Given the description of an element on the screen output the (x, y) to click on. 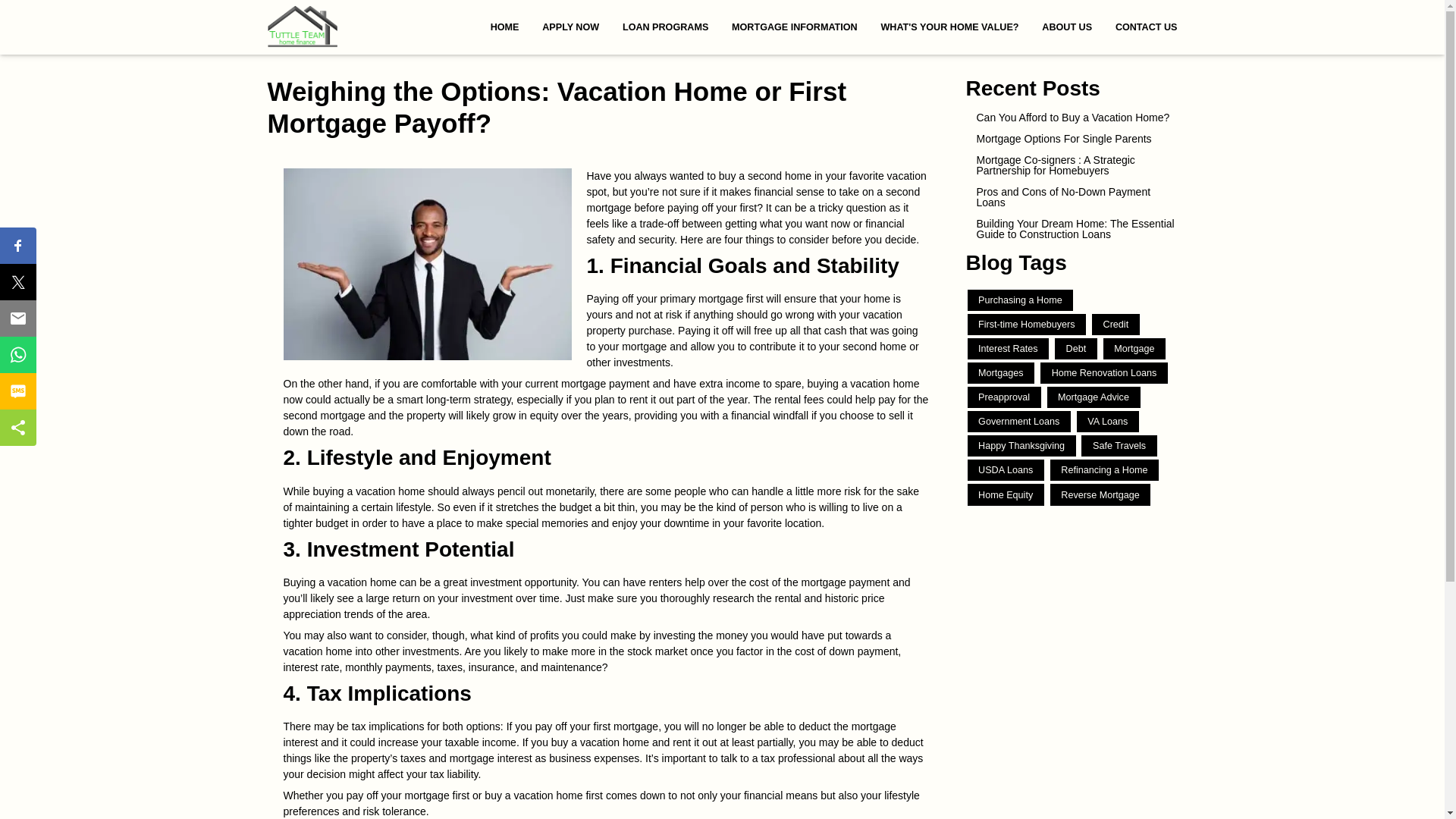
Purchasing a Home (1021, 300)
Mortgage Advice (1093, 396)
WHAT'S YOUR HOME VALUE? (949, 27)
Pros and Cons of No-Down Payment Loans (1071, 197)
Credit (1116, 323)
Home Renovation Loans (1104, 373)
MORTGAGE INFORMATION (794, 27)
APPLY NOW (571, 27)
Mortgage (1134, 348)
HOME (505, 27)
CONTACT US (1139, 27)
VA Loans (1107, 421)
Mortgage Options For Single Parents (1071, 138)
LOAN PROGRAMS (665, 27)
Mortgage Co-signers : A Strategic Partnership for Homebuyers (1071, 165)
